Given the description of an element on the screen output the (x, y) to click on. 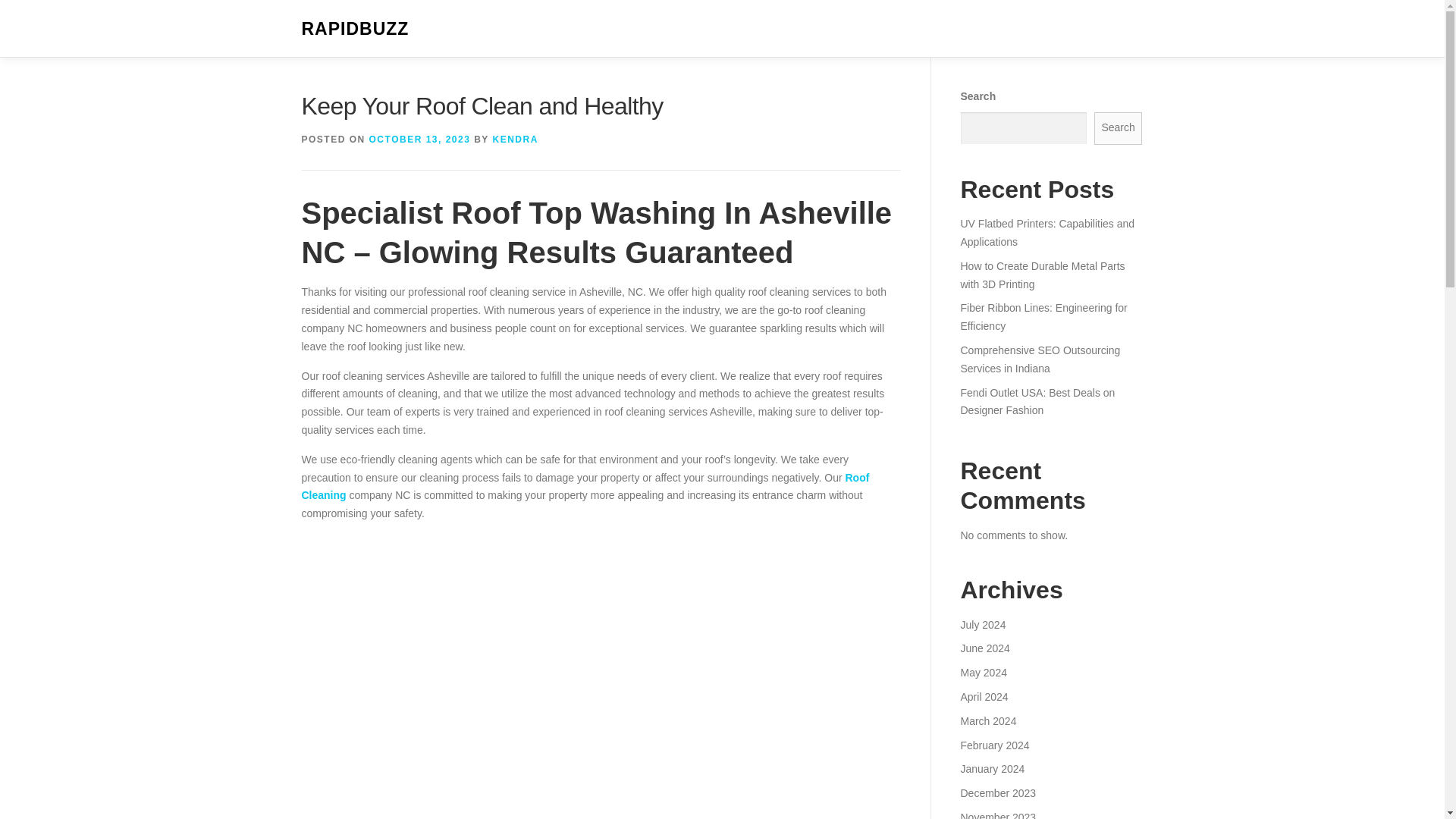
Fendi Outlet USA: Best Deals on Designer Fashion (1037, 401)
Search (1118, 128)
March 2024 (987, 720)
Fiber Ribbon Lines: Engineering for Efficiency (1042, 317)
February 2024 (994, 744)
June 2024 (984, 648)
UV Flatbed Printers: Capabilities and Applications (1046, 232)
Comprehensive SEO Outsourcing Services in Indiana (1039, 358)
November 2023 (997, 815)
OCTOBER 13, 2023 (419, 139)
May 2024 (982, 672)
April 2024 (983, 696)
How to Create Durable Metal Parts with 3D Printing (1041, 275)
July 2024 (982, 624)
KENDRA (514, 139)
